Given the description of an element on the screen output the (x, y) to click on. 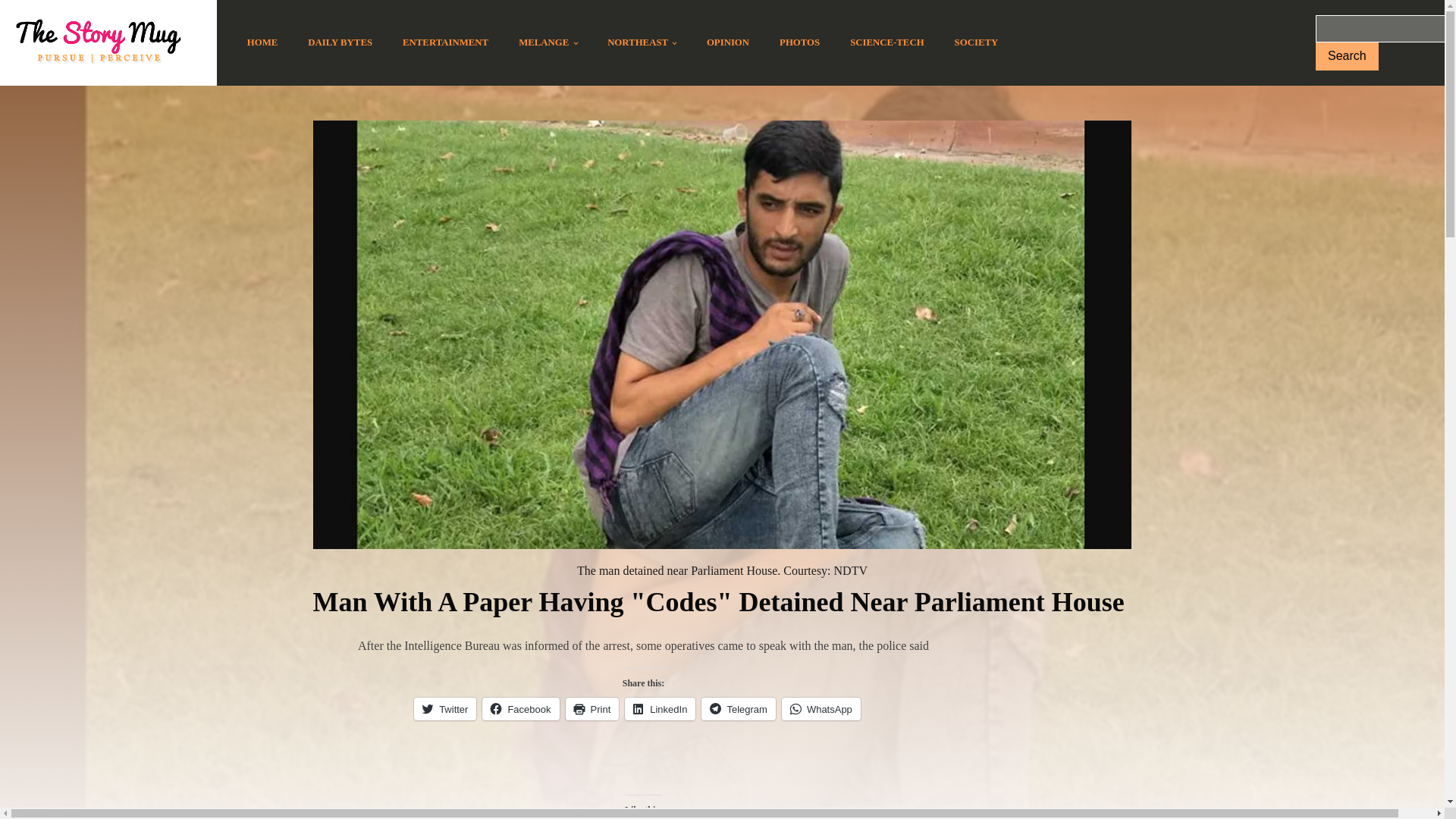
MELANGE (547, 42)
OPINION (727, 42)
Click to share on LinkedIn (659, 708)
SCIENCE-TECH (886, 42)
Facebook (520, 708)
Twitter (444, 708)
Click to share on Facebook (520, 708)
Search (1347, 55)
Telegram (737, 708)
WhatsApp (820, 708)
